Given the description of an element on the screen output the (x, y) to click on. 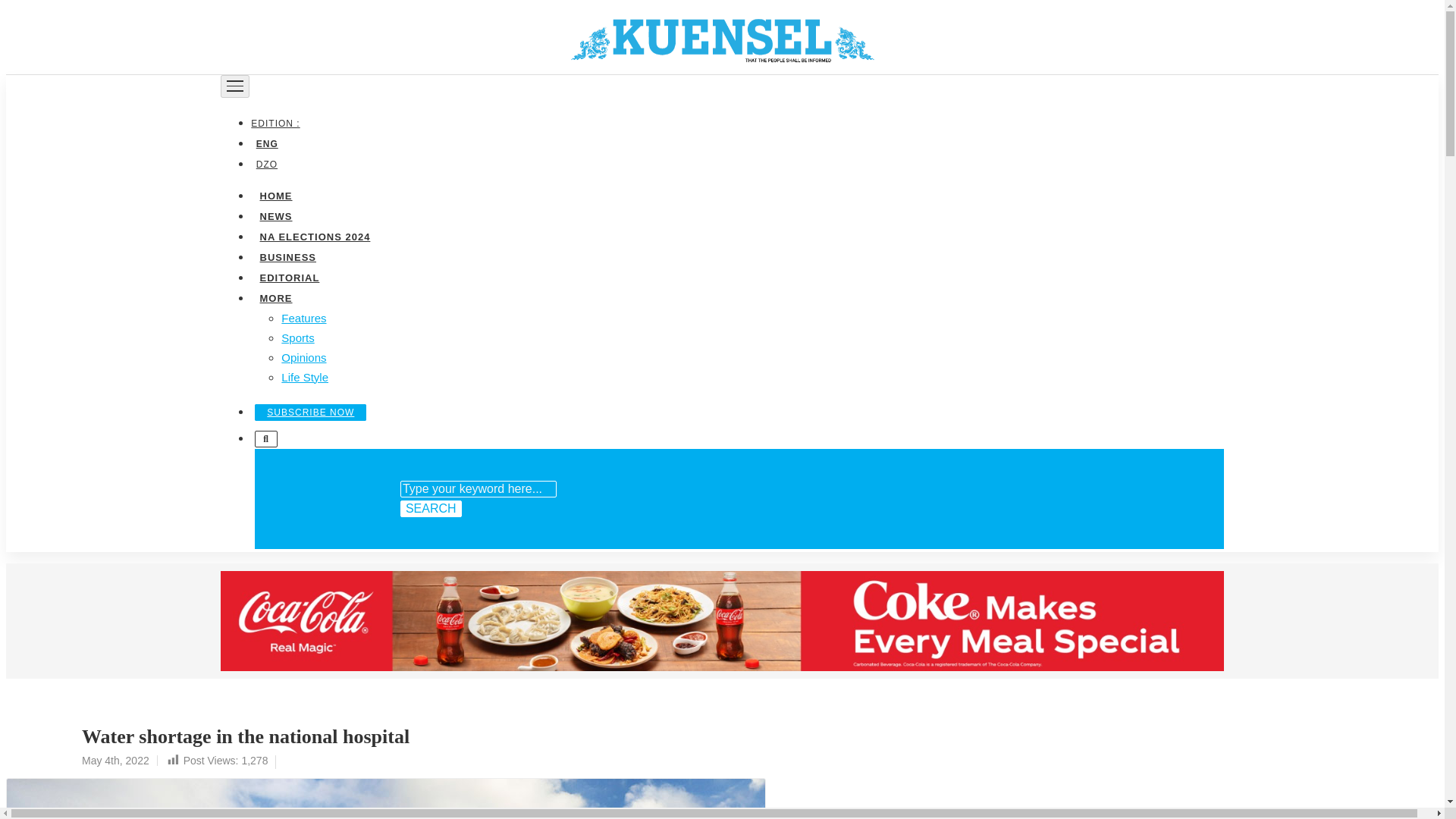
HOME (274, 194)
EDITION : (277, 122)
Features (303, 317)
Life Style (305, 376)
NA ELECTIONS 2024 (314, 235)
Sports (297, 336)
ENG (266, 143)
BUSINESS (287, 256)
SUBSCRIBE NOW (310, 411)
SEARCH (430, 508)
MORE (274, 297)
Opinions (303, 356)
NEWS (274, 215)
EDITORIAL (288, 276)
DZO (266, 163)
